Given the description of an element on the screen output the (x, y) to click on. 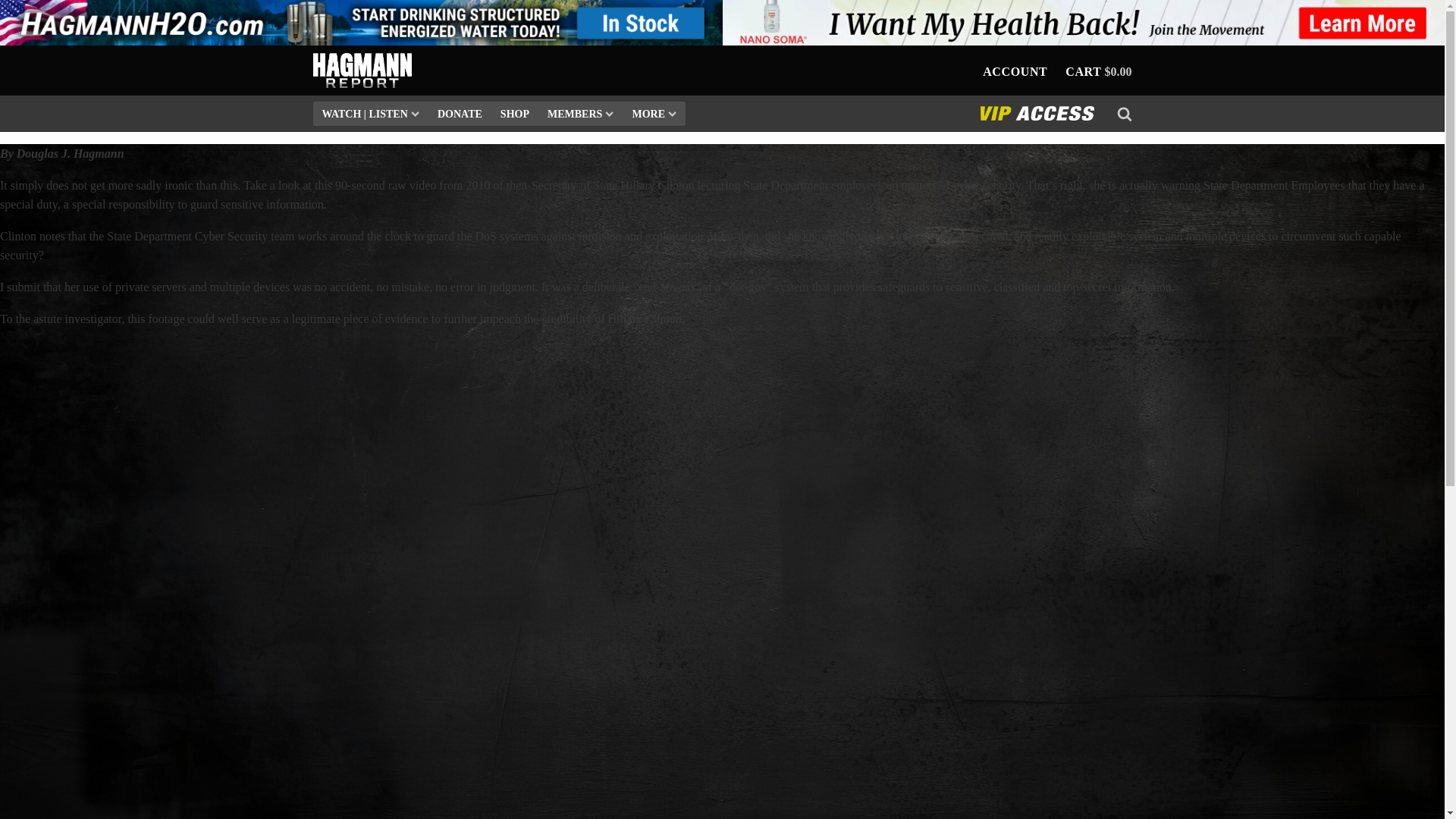
DONATE (460, 114)
SHOP (515, 114)
CART (1082, 71)
MORE (654, 114)
ACCOUNT (1014, 71)
MEMBERS (580, 114)
